Given the description of an element on the screen output the (x, y) to click on. 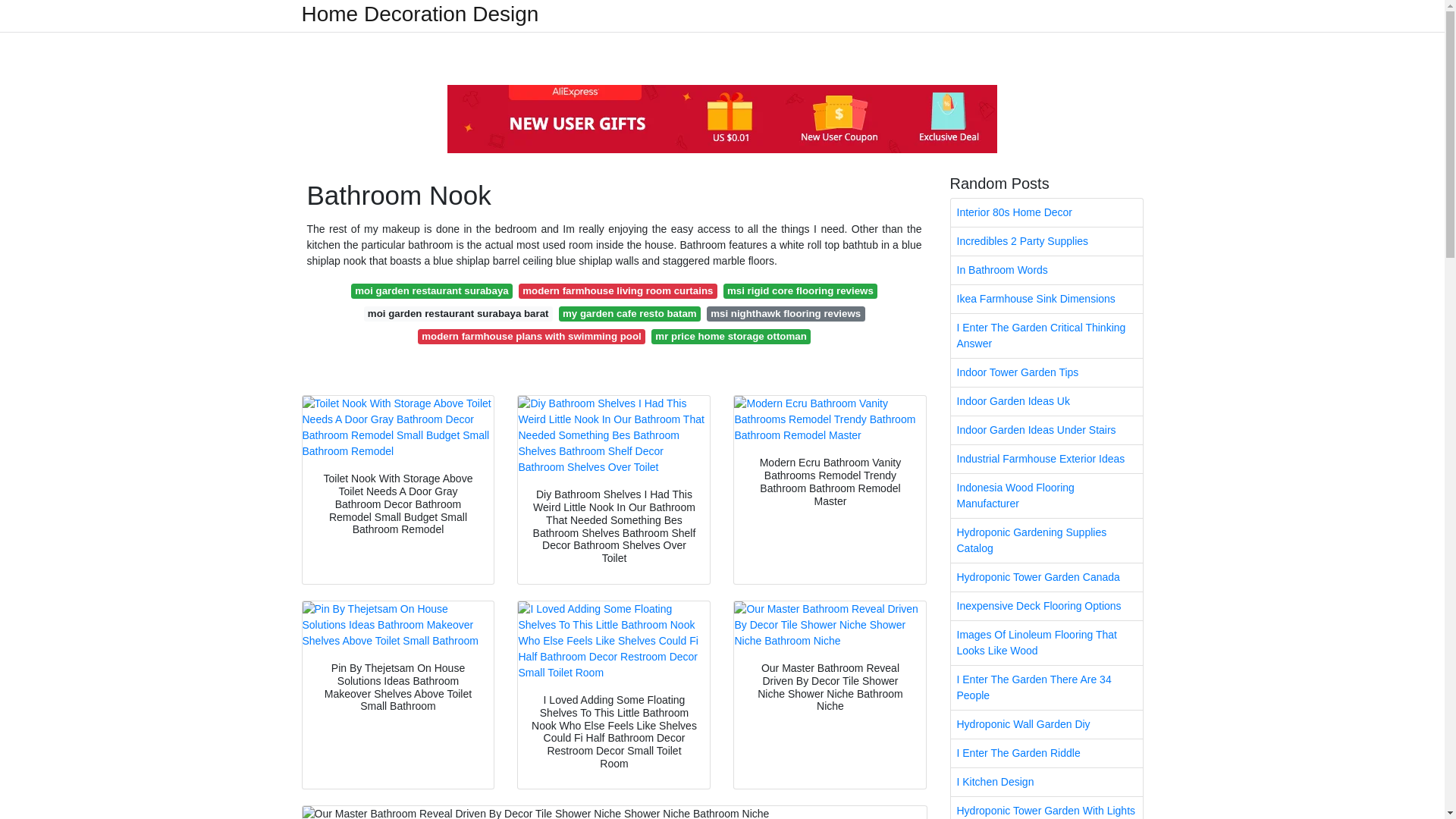
Incredibles 2 Party Supplies (1046, 241)
In Bathroom Words (1046, 270)
Home Decoration Design (419, 13)
moi garden restaurant surabaya (431, 290)
Indoor Tower Garden Tips (1046, 372)
Industrial Farmhouse Exterior Ideas (1046, 459)
modern farmhouse living room curtains (617, 290)
moi garden restaurant surabaya barat (458, 313)
Indoor Garden Ideas Under Stairs (1046, 430)
modern farmhouse plans with swimming pool (531, 336)
